Given the description of an element on the screen output the (x, y) to click on. 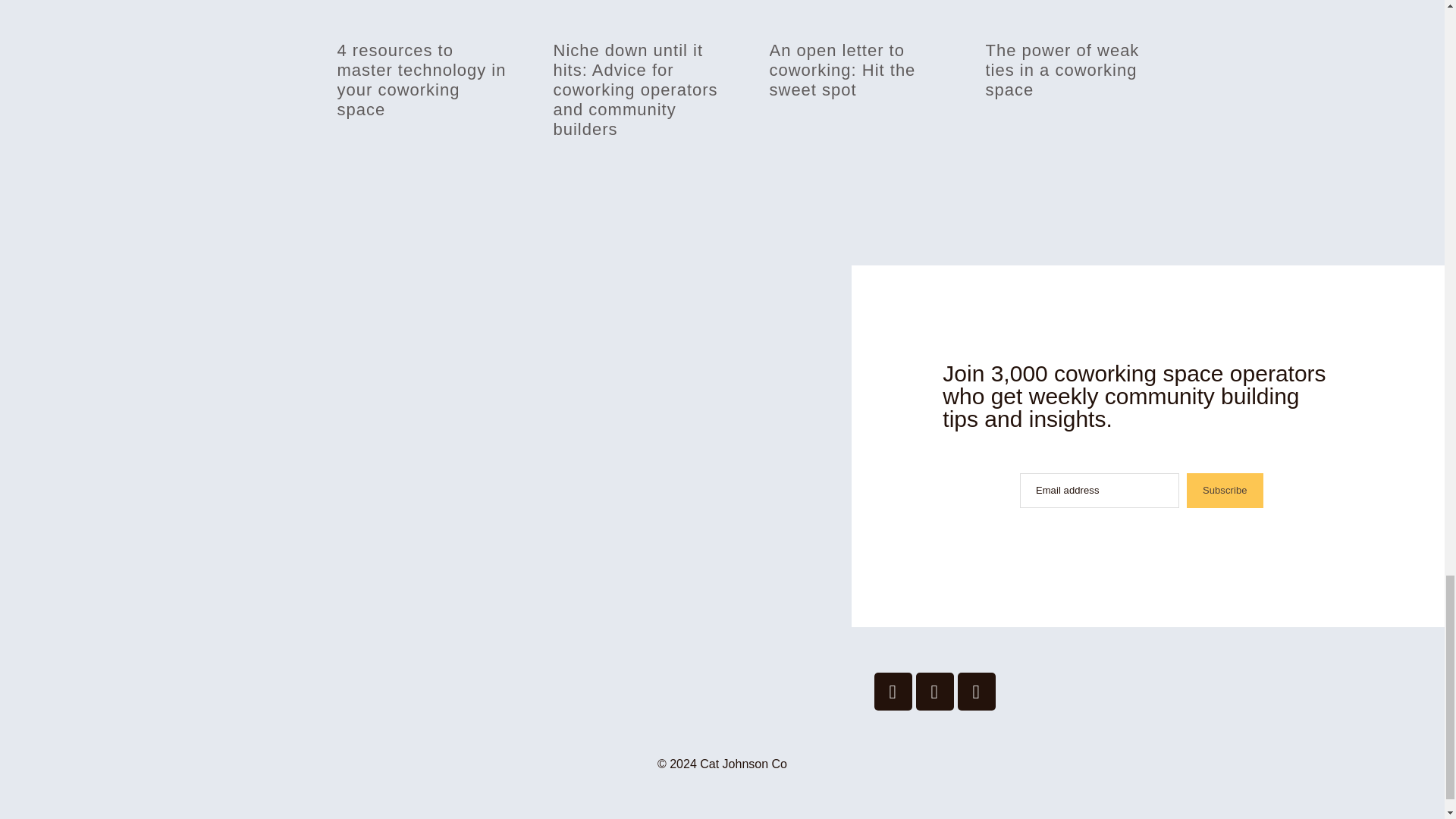
An open letter to coworking: Hit the sweet spot (841, 69)
The power of weak ties in a coworking space (1062, 69)
4 resources to master technology in your coworking space (420, 79)
Subscribe (1224, 490)
